Given the description of an element on the screen output the (x, y) to click on. 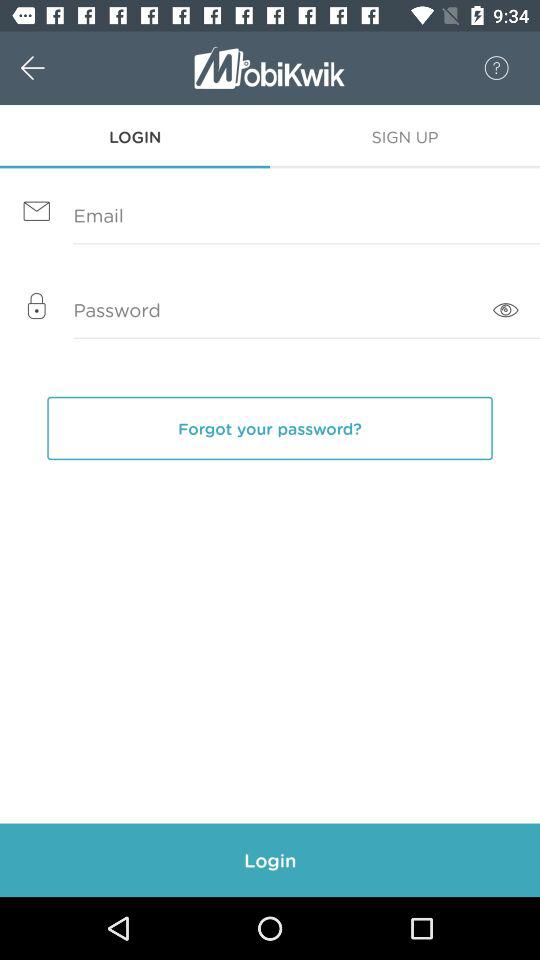
choose icon to the right of the r item (485, 68)
